Given the description of an element on the screen output the (x, y) to click on. 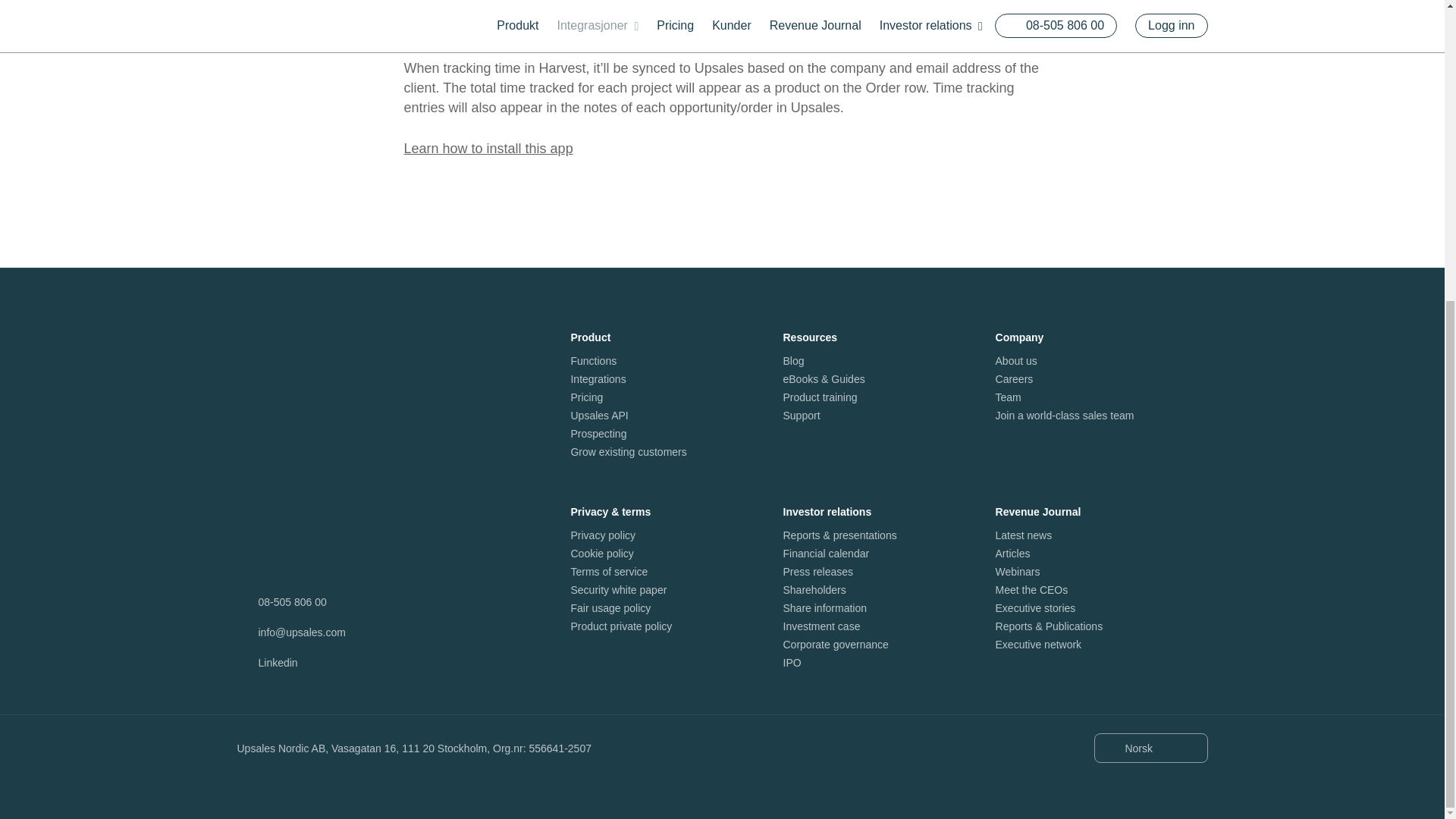
08-505 806 00 (291, 601)
Join a world-class sales team (1064, 415)
About us (1015, 360)
Grow existing customers (627, 451)
Functions (592, 360)
Blog (793, 360)
Support (801, 415)
Product training (820, 397)
Careers (1014, 378)
Prospecting (598, 433)
Team (1008, 397)
Support (801, 415)
Latest news (1023, 535)
Linkedin (277, 662)
Upsales API (598, 415)
